Given the description of an element on the screen output the (x, y) to click on. 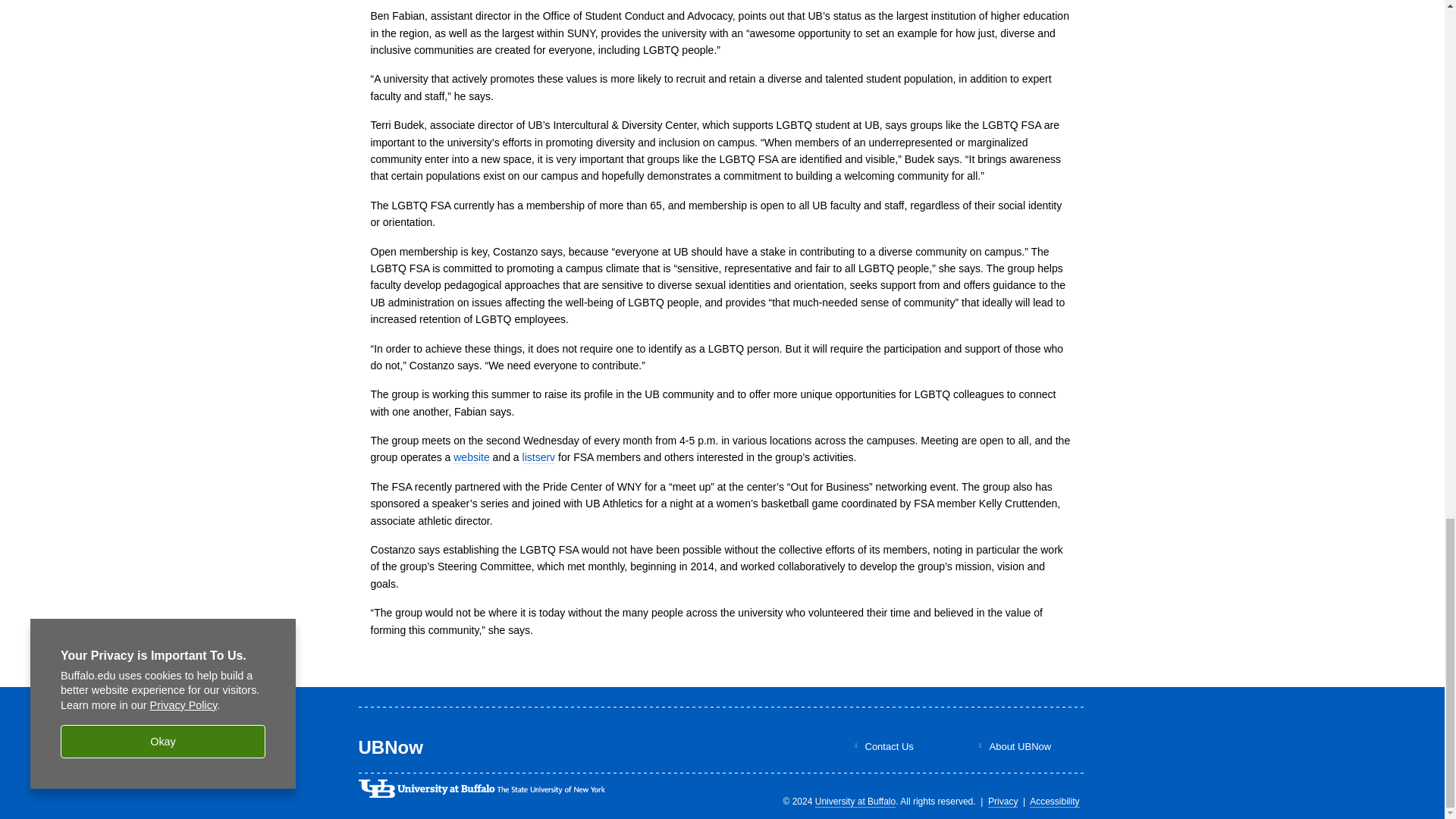
About UBNow (1019, 746)
Accessibility (1053, 801)
University at Buffalo (855, 801)
website (470, 457)
Privacy (1002, 801)
listserv (539, 457)
Contact Us (888, 746)
